Given the description of an element on the screen output the (x, y) to click on. 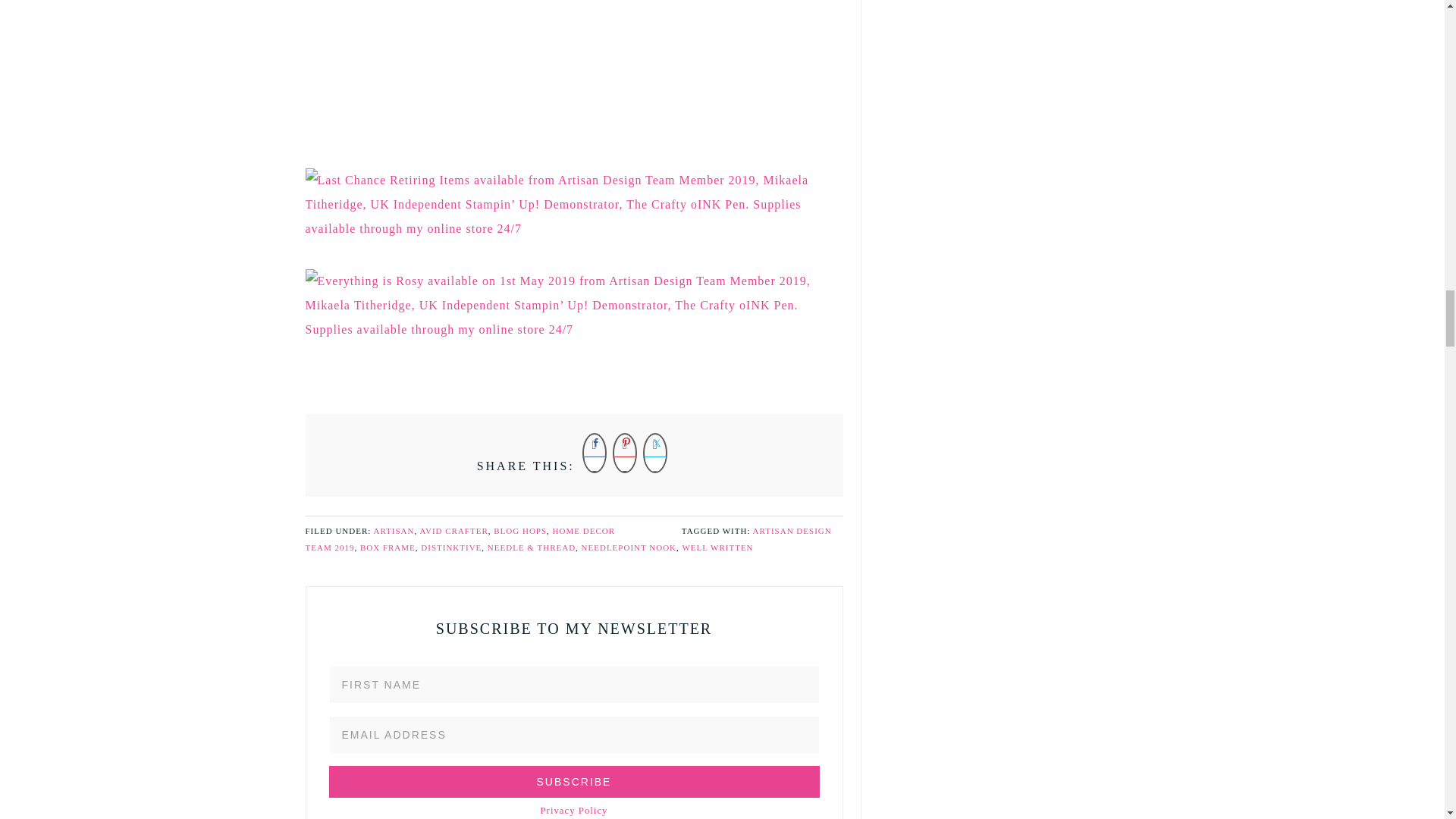
Subscribe (574, 781)
